Given the description of an element on the screen output the (x, y) to click on. 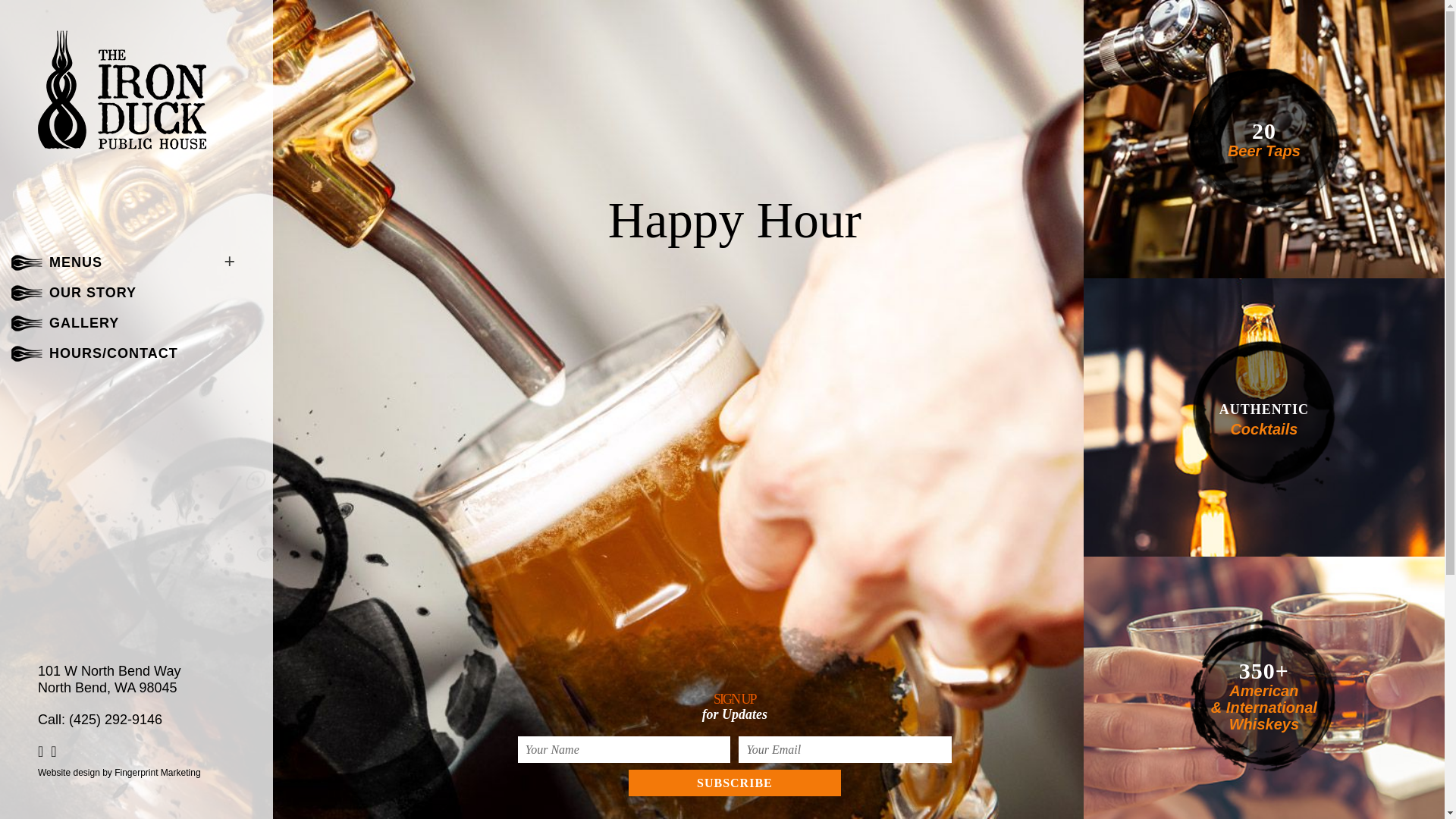
GALLERY (84, 322)
MENUS (75, 262)
Your Name (624, 749)
SUBSCRIBE (734, 782)
Fingerprint Marketing (157, 772)
Your Email (845, 749)
SUBSCRIBE (734, 782)
OUR STORY (92, 292)
